Given the description of an element on the screen output the (x, y) to click on. 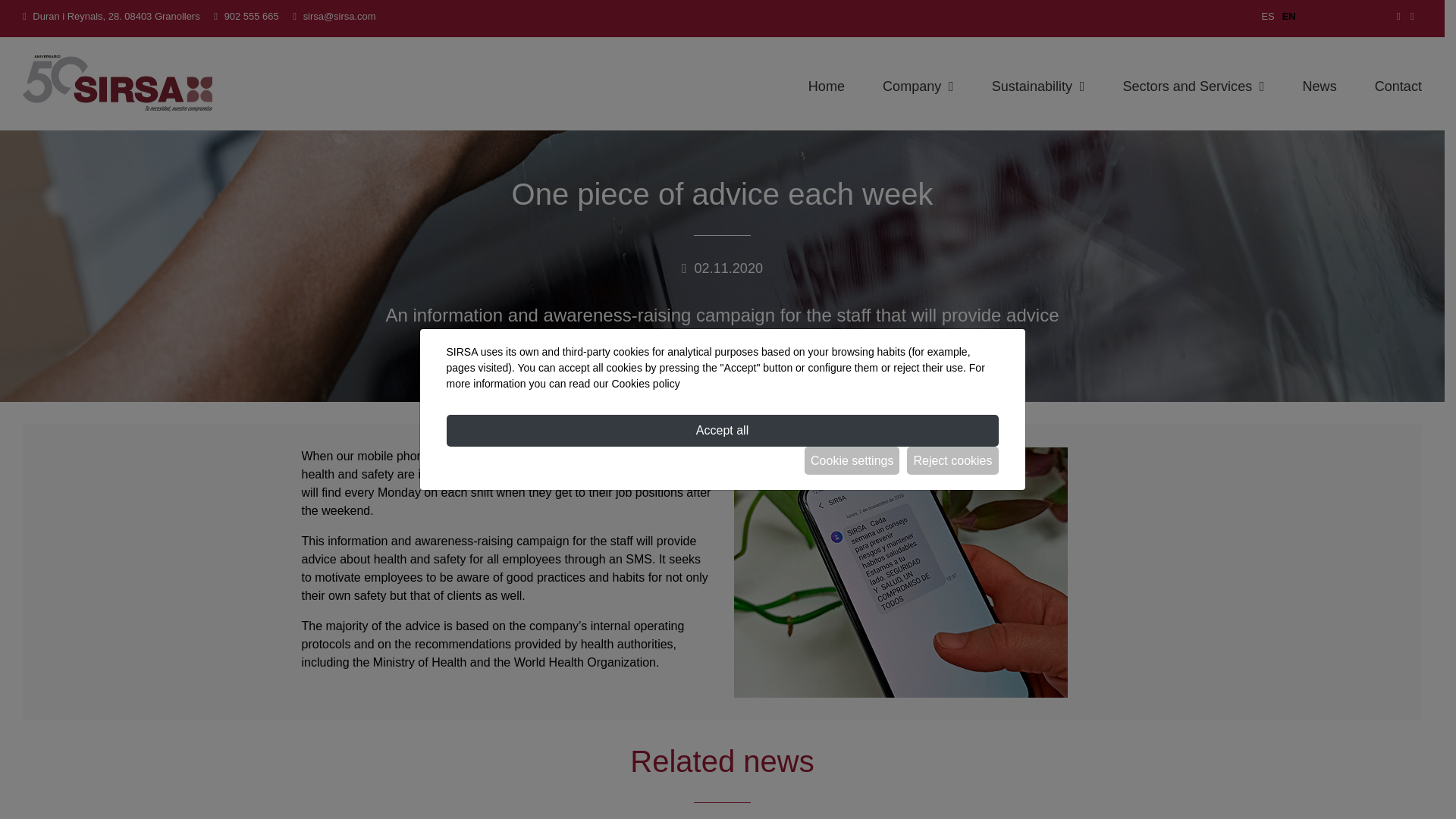
Home (826, 86)
902 555 665 (251, 16)
ES (1267, 16)
EN (1288, 16)
Contact (1398, 86)
